Given the description of an element on the screen output the (x, y) to click on. 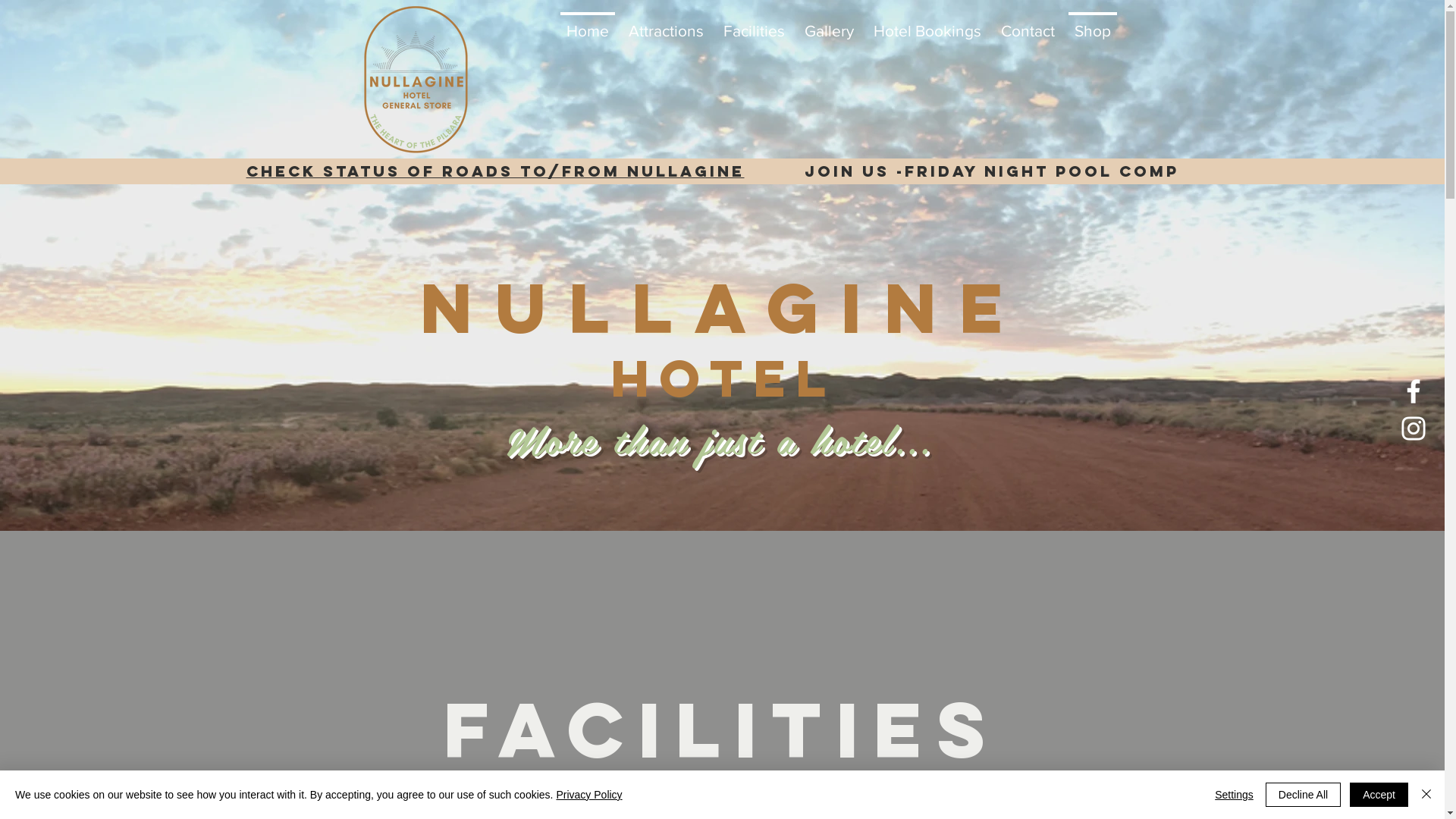
Nullagine Logo .png Element type: hover (414, 77)
Attractions Element type: text (665, 24)
Contact Element type: text (1027, 24)
Facilities Element type: text (721, 729)
Facilities Element type: text (753, 24)
Hotel Bookings Element type: text (927, 24)
Home Element type: text (587, 24)
Accept Element type: text (1378, 794)
check status of roads to/from nullagine Element type: text (494, 170)
Gallery Element type: text (828, 24)
Privacy Policy Element type: text (588, 794)
Shop Element type: text (1092, 24)
Decline All Element type: text (1302, 794)
